Given the description of an element on the screen output the (x, y) to click on. 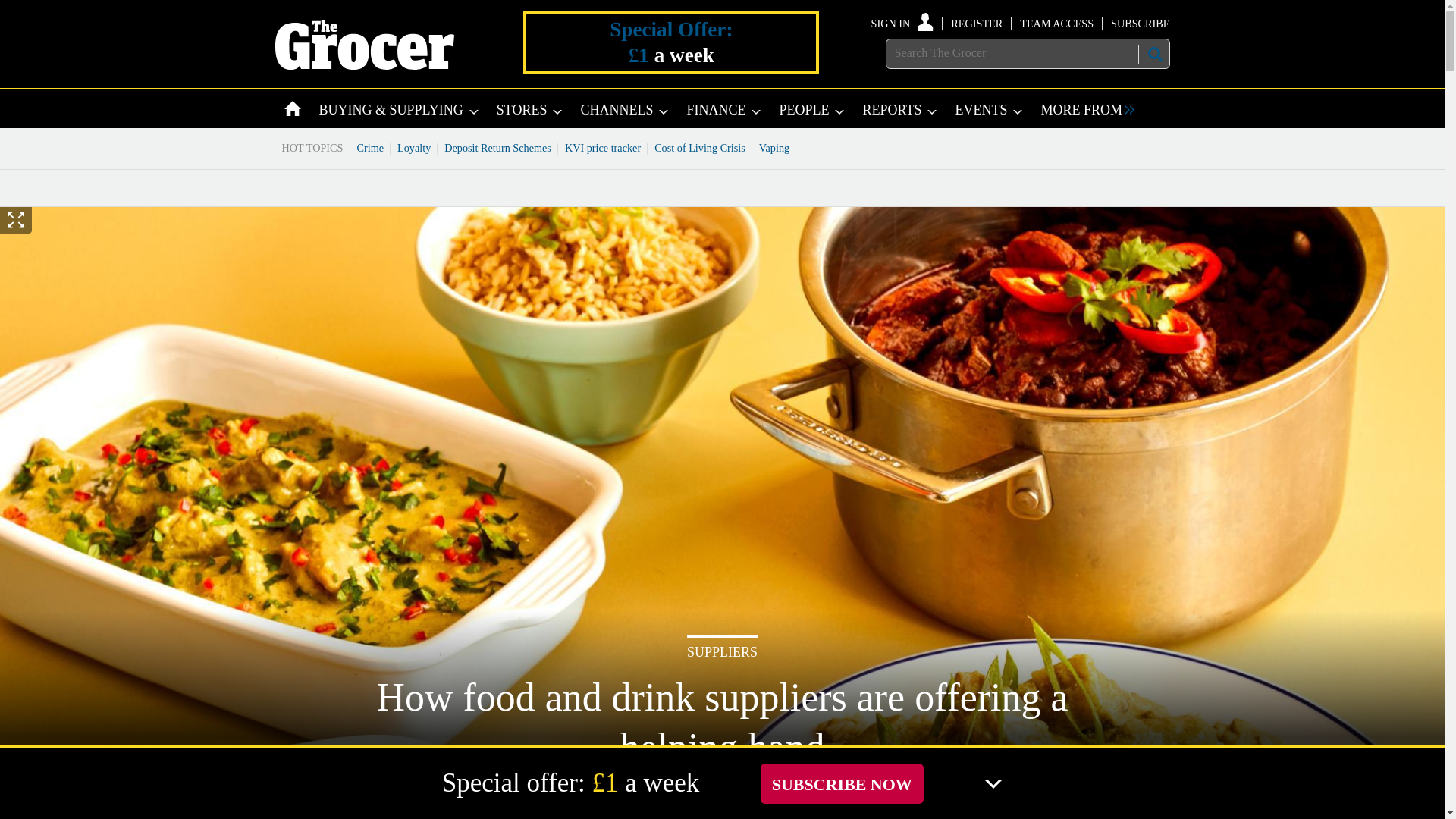
SUBSCRIBE (1139, 23)
Crime (370, 147)
Vaping (774, 147)
REGISTER (976, 23)
Cost of Living Crisis (699, 147)
TEAM ACCESS (1056, 23)
KVI price tracker (602, 147)
Site name (363, 65)
SUBSCRIBE NOW (841, 783)
SEARCH (1153, 53)
